Given the description of an element on the screen output the (x, y) to click on. 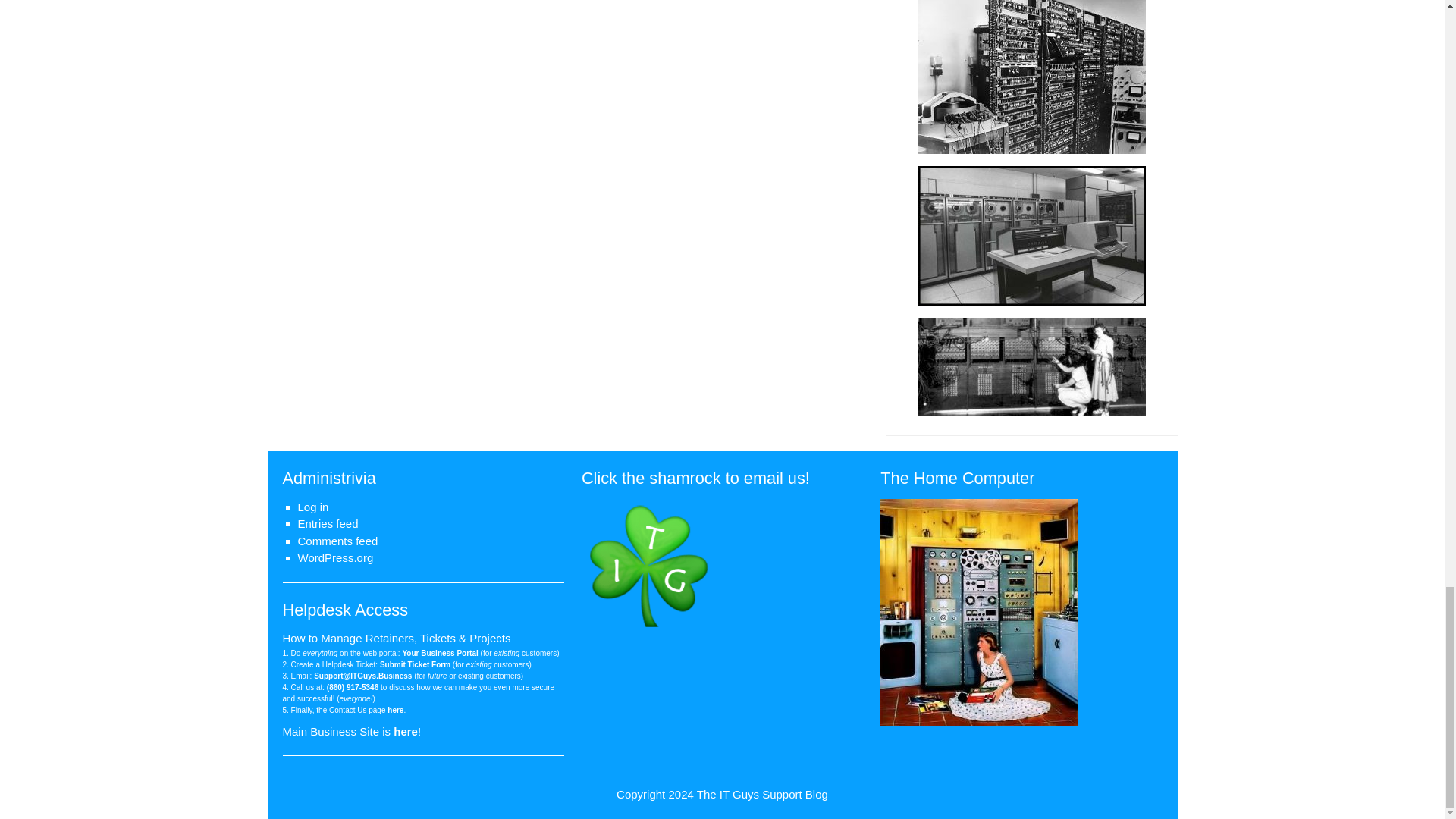
The IT Guys Support Blog (762, 793)
Log in (313, 506)
